Given the description of an element on the screen output the (x, y) to click on. 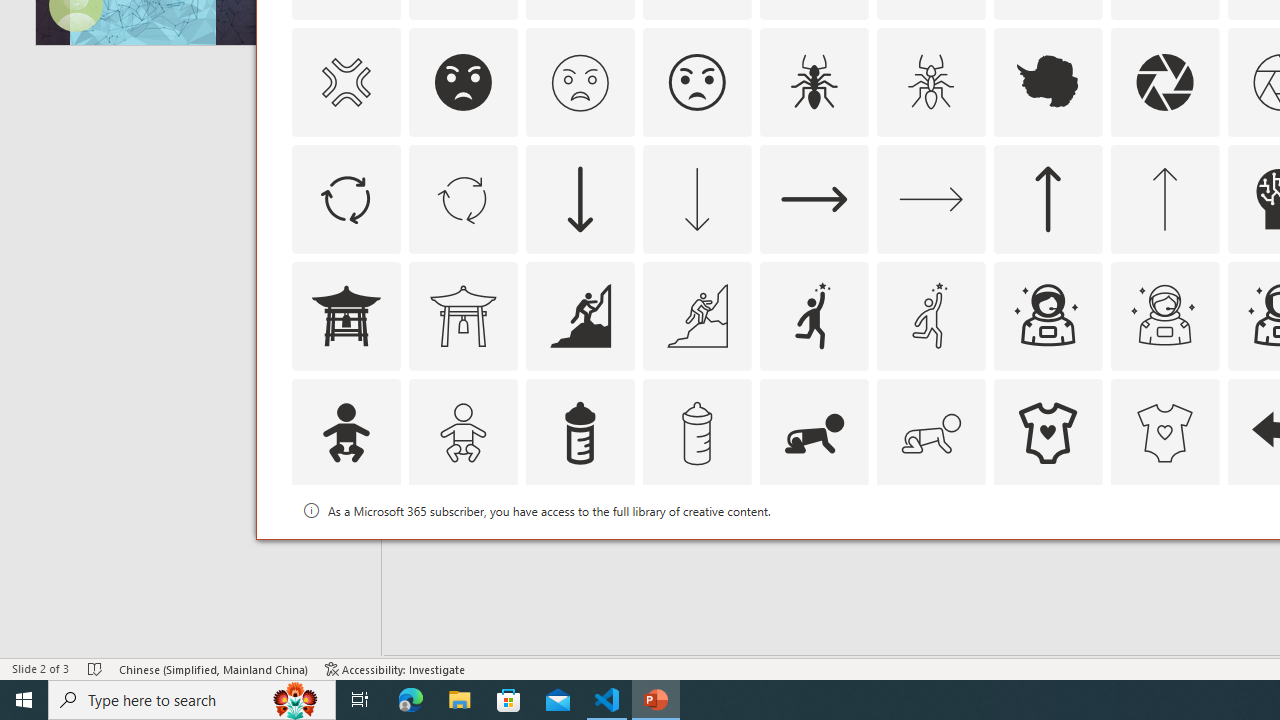
AutomationID: Icons_Baby (345, 432)
AutomationID: Icons_BabyBottle_M (696, 432)
AutomationID: Icons_Aspiration_M (696, 316)
AutomationID: Icons_ArrowDown (579, 198)
AutomationID: Icons_AngryFace_Outline (696, 82)
Thumbnail (1204, 511)
AutomationID: Icons_Badge2_M (579, 550)
